Given the description of an element on the screen output the (x, y) to click on. 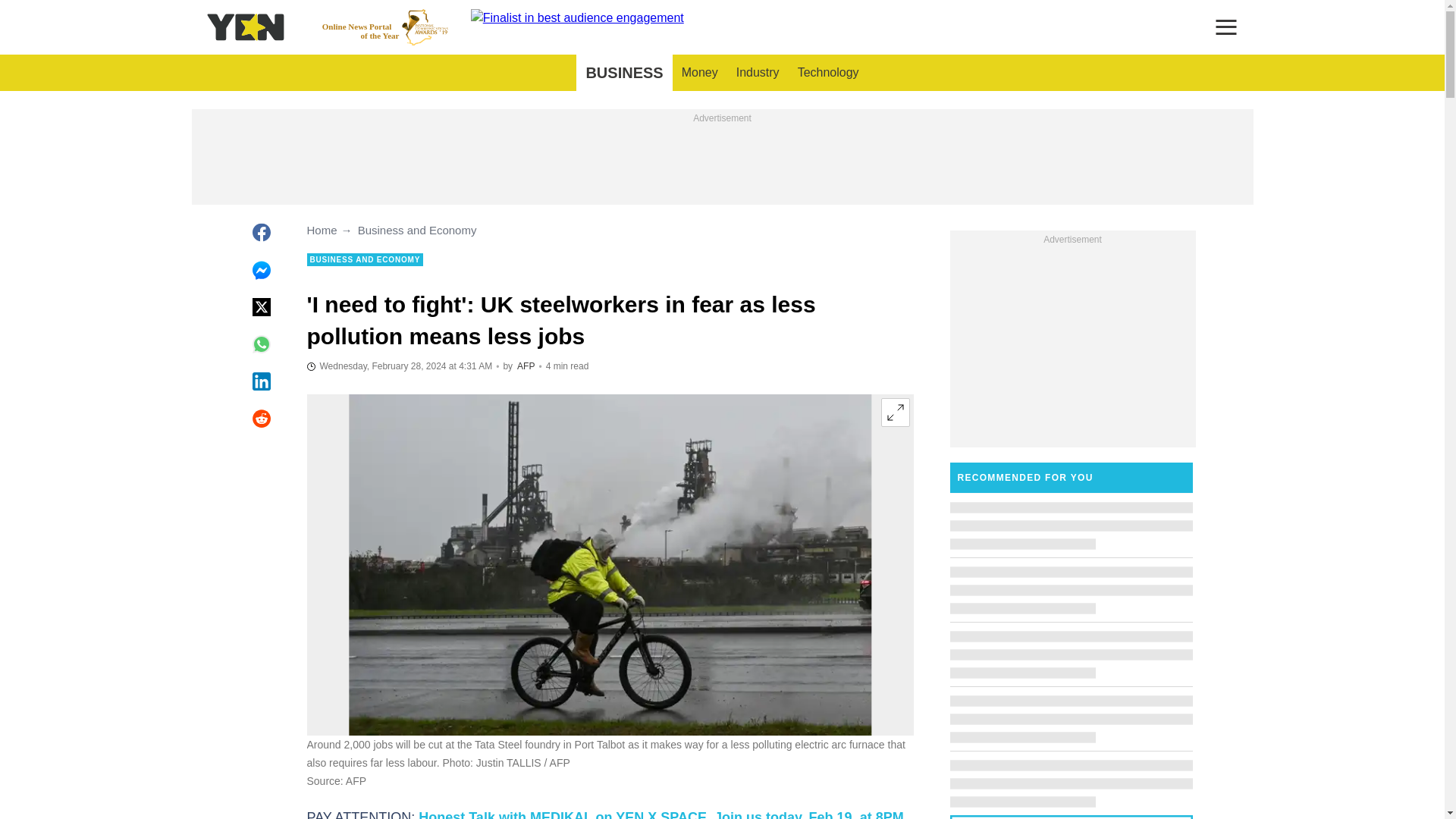
Technology (828, 72)
BUSINESS (384, 27)
Money (623, 72)
Expand image (699, 72)
X Space (895, 412)
2024-02-28T04:31:07Z (660, 814)
Industry (398, 366)
Author page (757, 72)
